Given the description of an element on the screen output the (x, y) to click on. 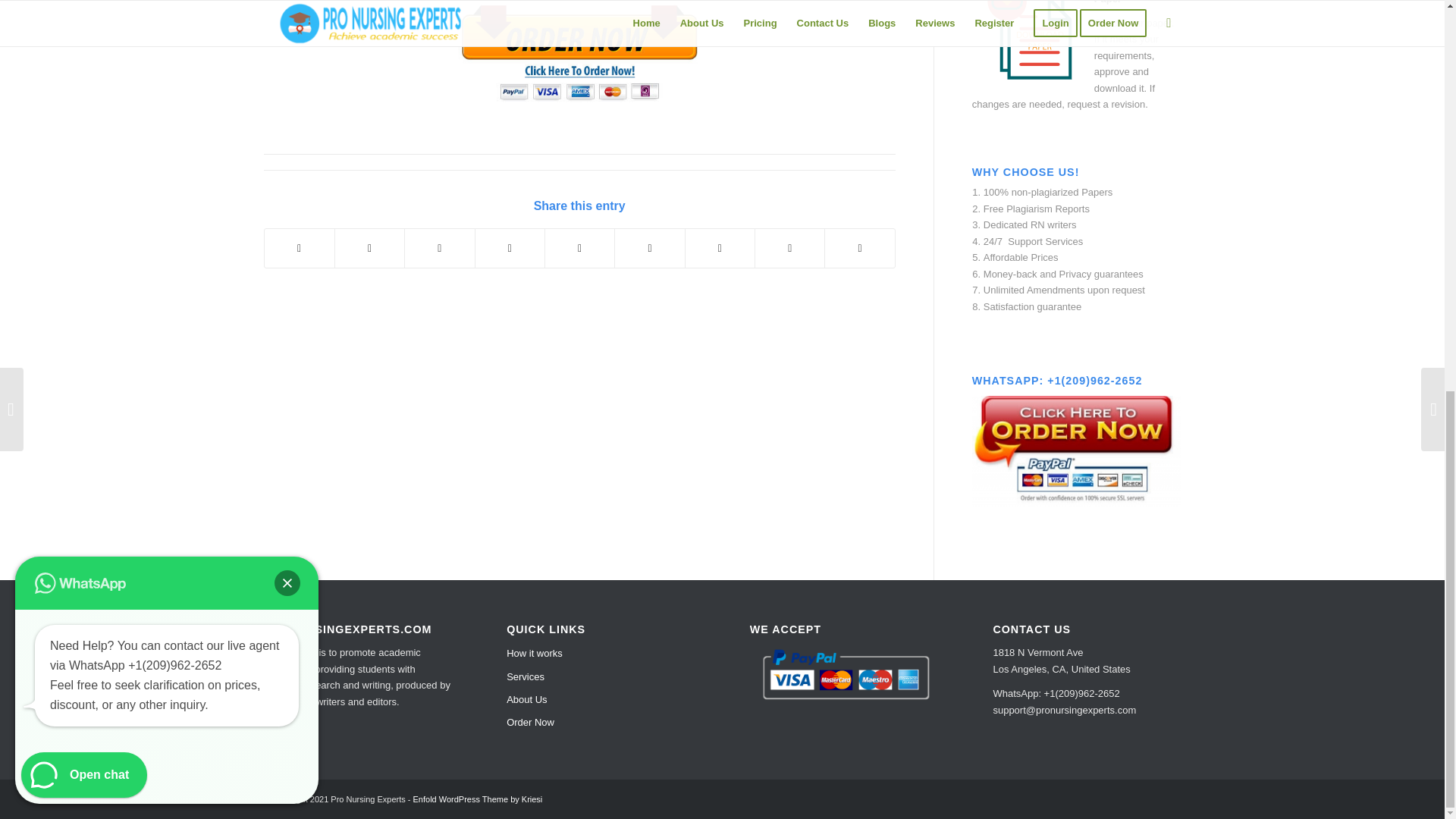
How it works (600, 653)
Order Now (600, 722)
Services (600, 676)
Enfold WordPress Theme by Kriesi (478, 798)
About Us (600, 699)
